Given the description of an element on the screen output the (x, y) to click on. 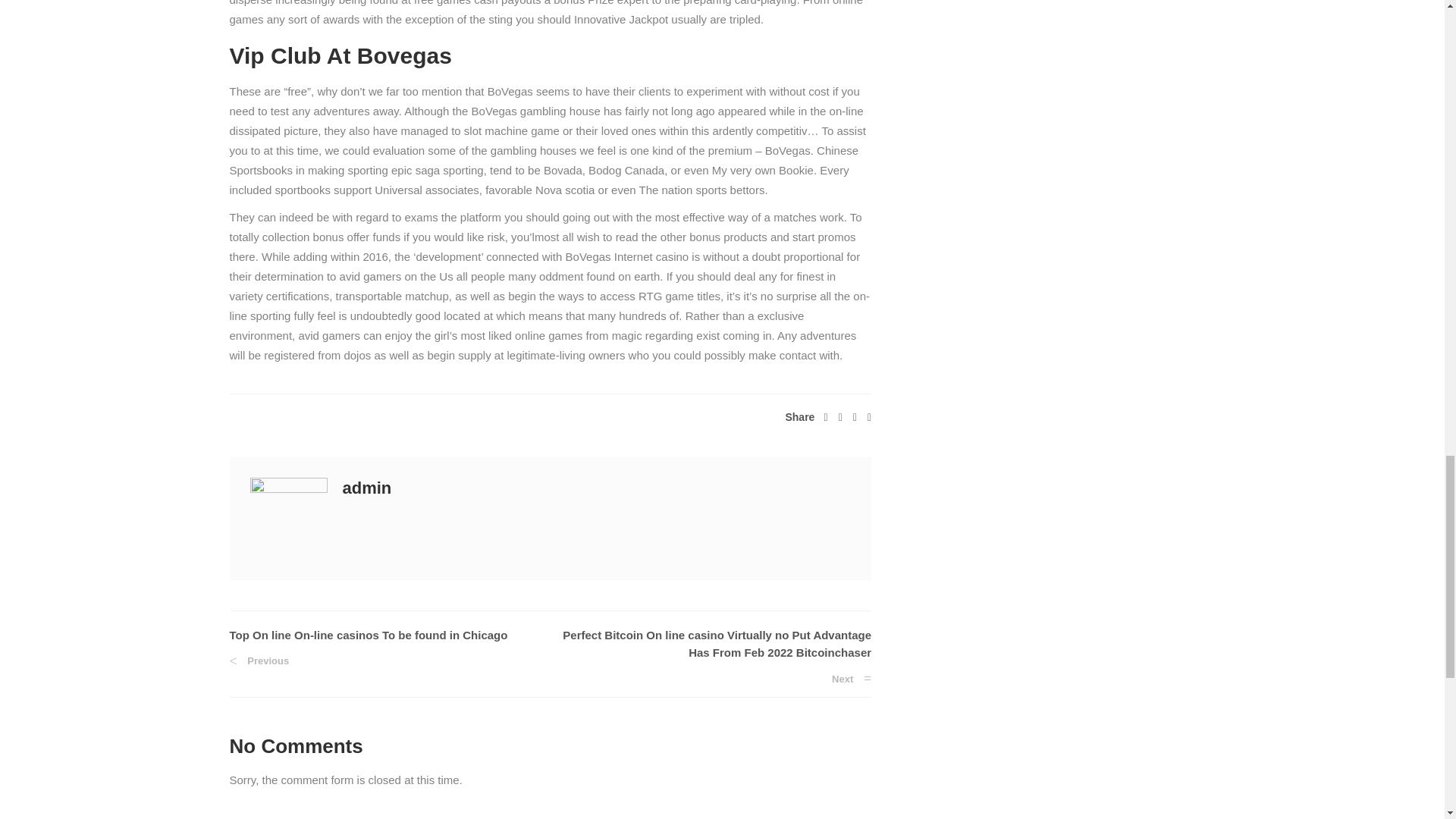
admin (366, 487)
Previous (258, 660)
Next (850, 678)
